Given the description of an element on the screen output the (x, y) to click on. 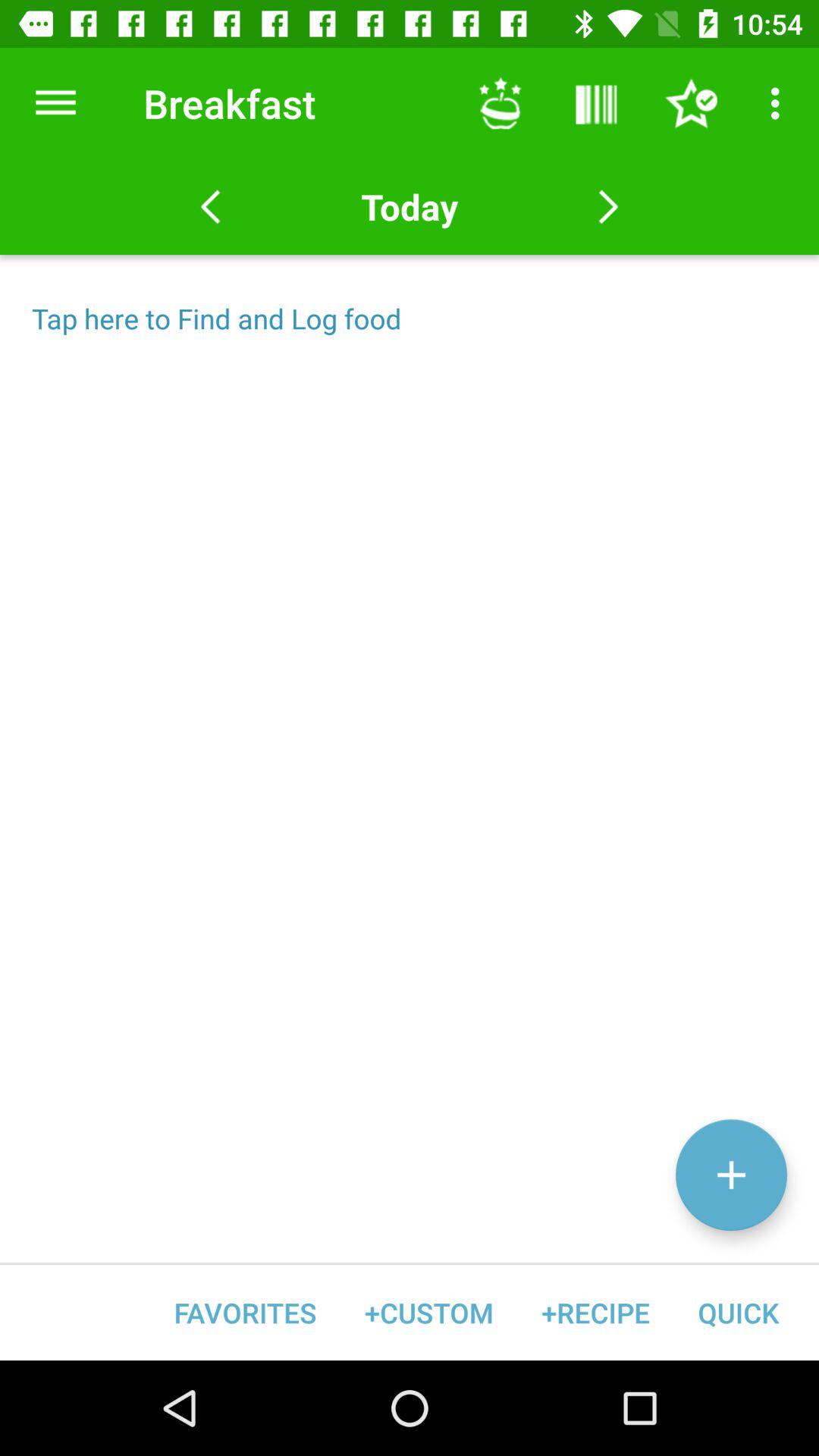
add food item (731, 1174)
